Given the description of an element on the screen output the (x, y) to click on. 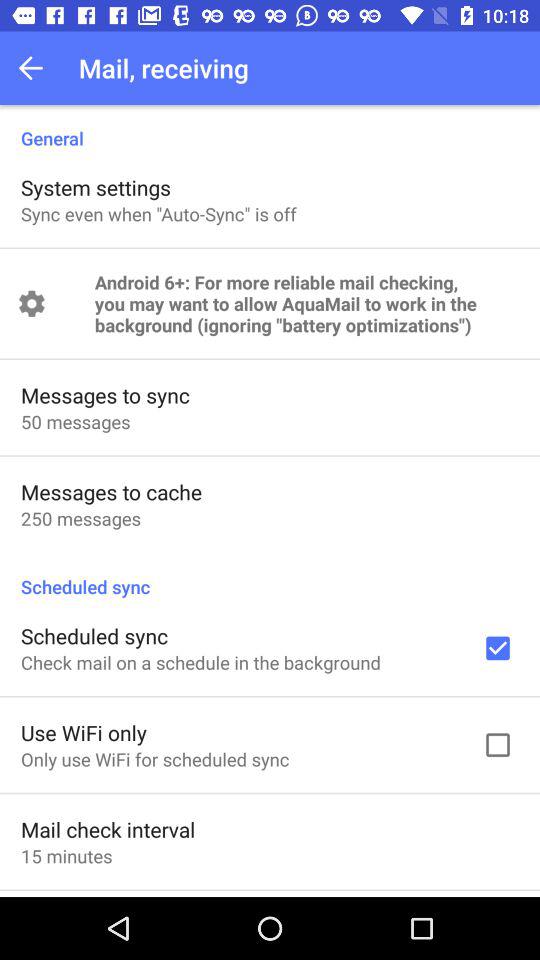
turn on app next to the mail, receiving app (36, 68)
